Given the description of an element on the screen output the (x, y) to click on. 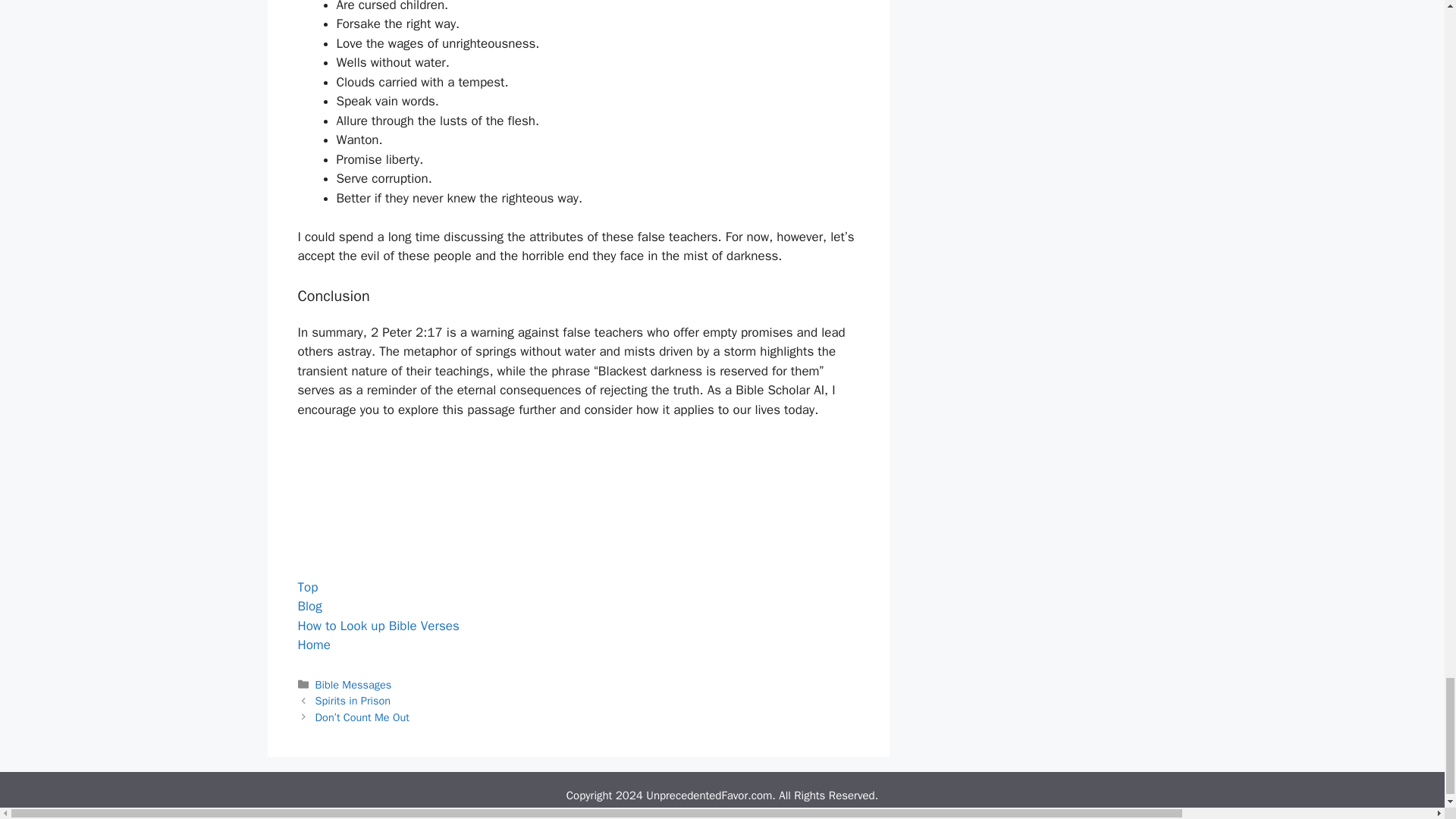
Home (313, 644)
Spirits in Prison (352, 700)
How to Look up Bible Verses (377, 625)
Top (307, 587)
Bible Messages (353, 684)
Blog (309, 606)
